Given the description of an element on the screen output the (x, y) to click on. 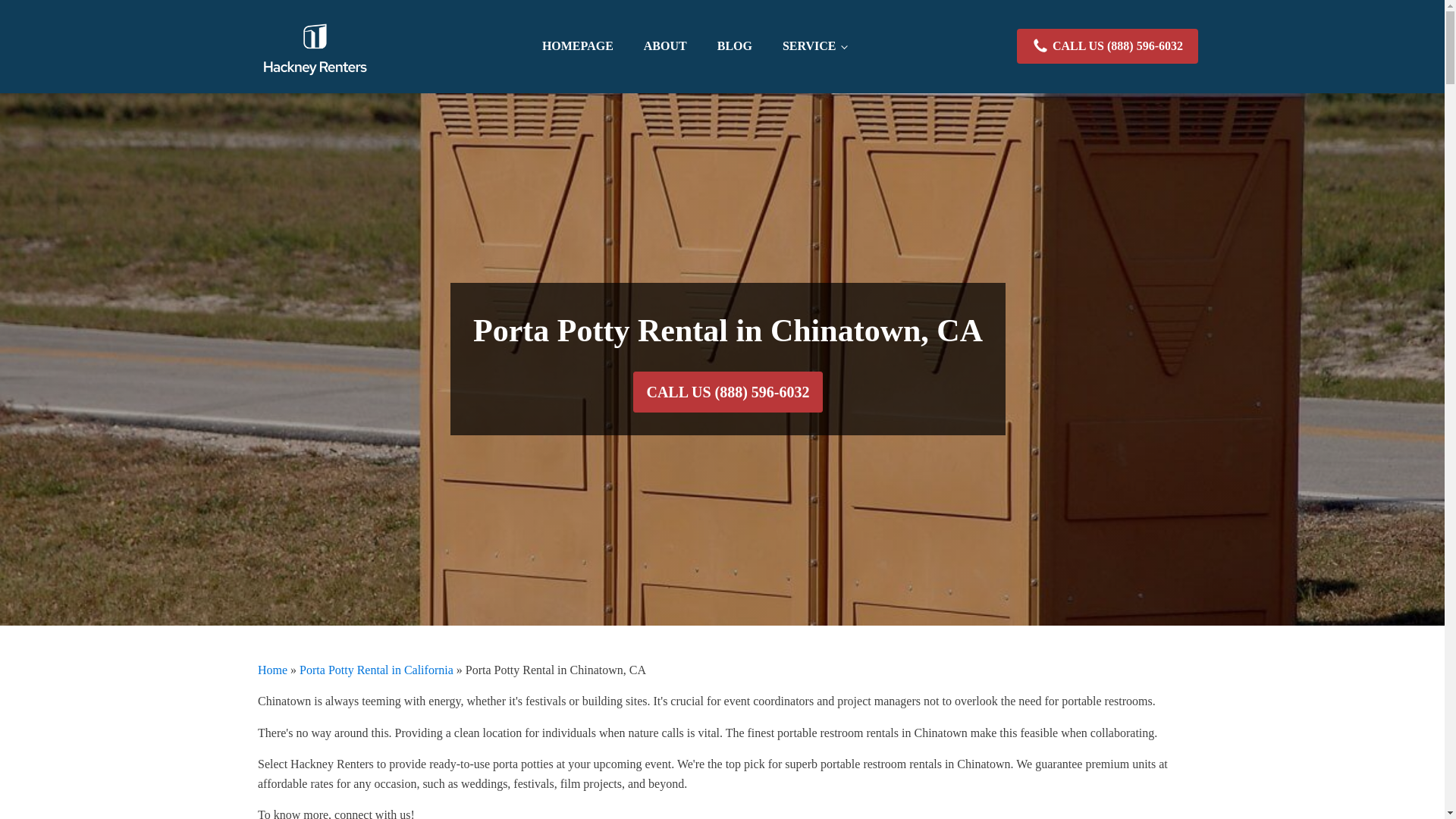
Home (271, 668)
SERVICE (814, 46)
HOMEPAGE (577, 46)
Porta Potty Rental in California (375, 668)
ABOUT (664, 46)
BLOG (734, 46)
